Given the description of an element on the screen output the (x, y) to click on. 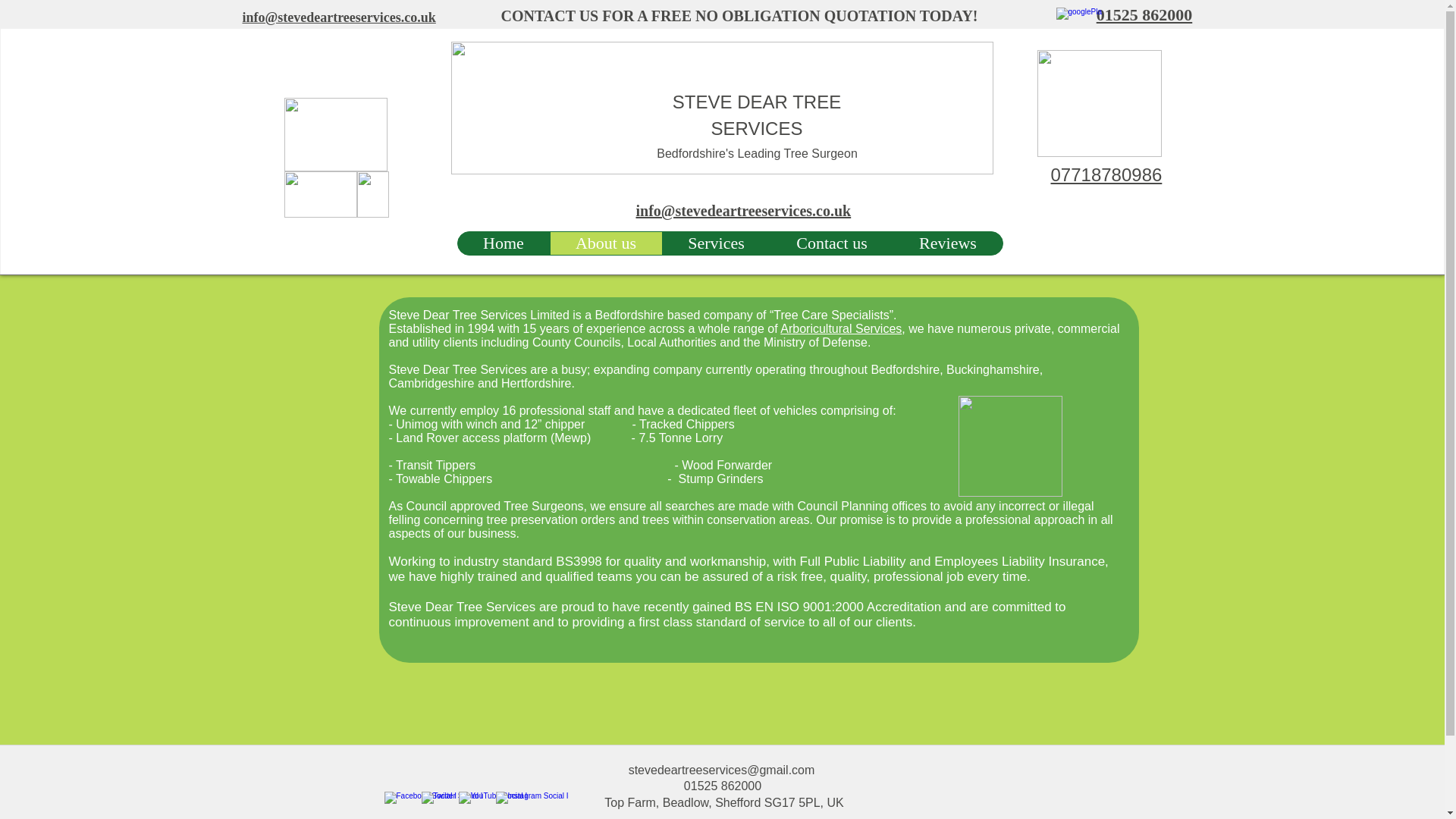
Arboricultural Services (840, 328)
Reviews (948, 242)
About us (604, 242)
01525 862000 (1144, 14)
Contact us (831, 242)
07718780986 (1106, 174)
Home (504, 242)
